Given the description of an element on the screen output the (x, y) to click on. 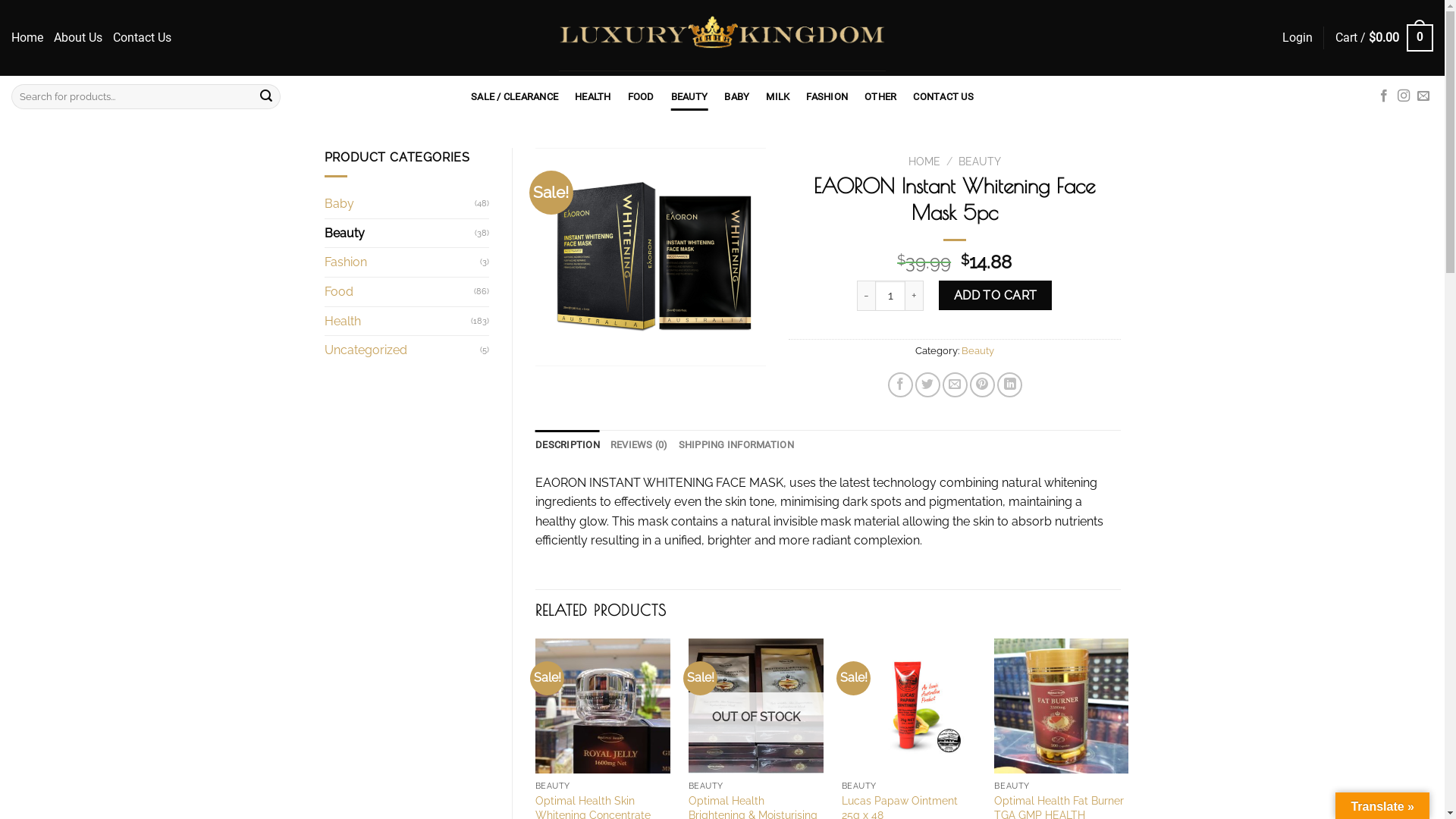
HEALTH Element type: text (592, 96)
SALE / CLEARANCE Element type: text (514, 96)
FASHION Element type: text (826, 96)
Health Element type: text (397, 321)
Search Element type: text (266, 96)
Home Element type: text (27, 37)
EAORON-Instant-Whitening-face-mask-face-mask-series-001 Element type: hover (650, 256)
Follow on Facebook Element type: hover (1383, 96)
Fashion Element type: text (402, 261)
Beauty Element type: text (399, 233)
Contact Us Element type: text (141, 37)
About Us Element type: text (77, 37)
Food Element type: text (399, 291)
Login Element type: text (1297, 37)
Email to a Friend Element type: hover (954, 384)
FOOD Element type: text (640, 96)
Qty Element type: hover (890, 295)
BABY Element type: text (736, 96)
SHIPPING INFORMATION Element type: text (735, 444)
Baby Element type: text (399, 203)
BEAUTY Element type: text (689, 96)
MILK Element type: text (777, 96)
HOME Element type: text (924, 161)
REVIEWS (0) Element type: text (639, 444)
Share on Twitter Element type: hover (927, 384)
OTHER Element type: text (880, 96)
Send us an email Element type: hover (1423, 96)
ADD TO CART Element type: text (994, 295)
BEAUTY Element type: text (979, 161)
Uncategorized Element type: text (402, 349)
Share on Facebook Element type: hover (900, 384)
Pin on Pinterest Element type: hover (981, 384)
Share on LinkedIn Element type: hover (1009, 384)
Cart / $0.00
0 Element type: text (1384, 37)
Follow on Instagram Element type: hover (1403, 96)
CONTACT US Element type: text (943, 96)
DESCRIPTION Element type: text (567, 444)
Beauty Element type: text (977, 350)
